Given the description of an element on the screen output the (x, y) to click on. 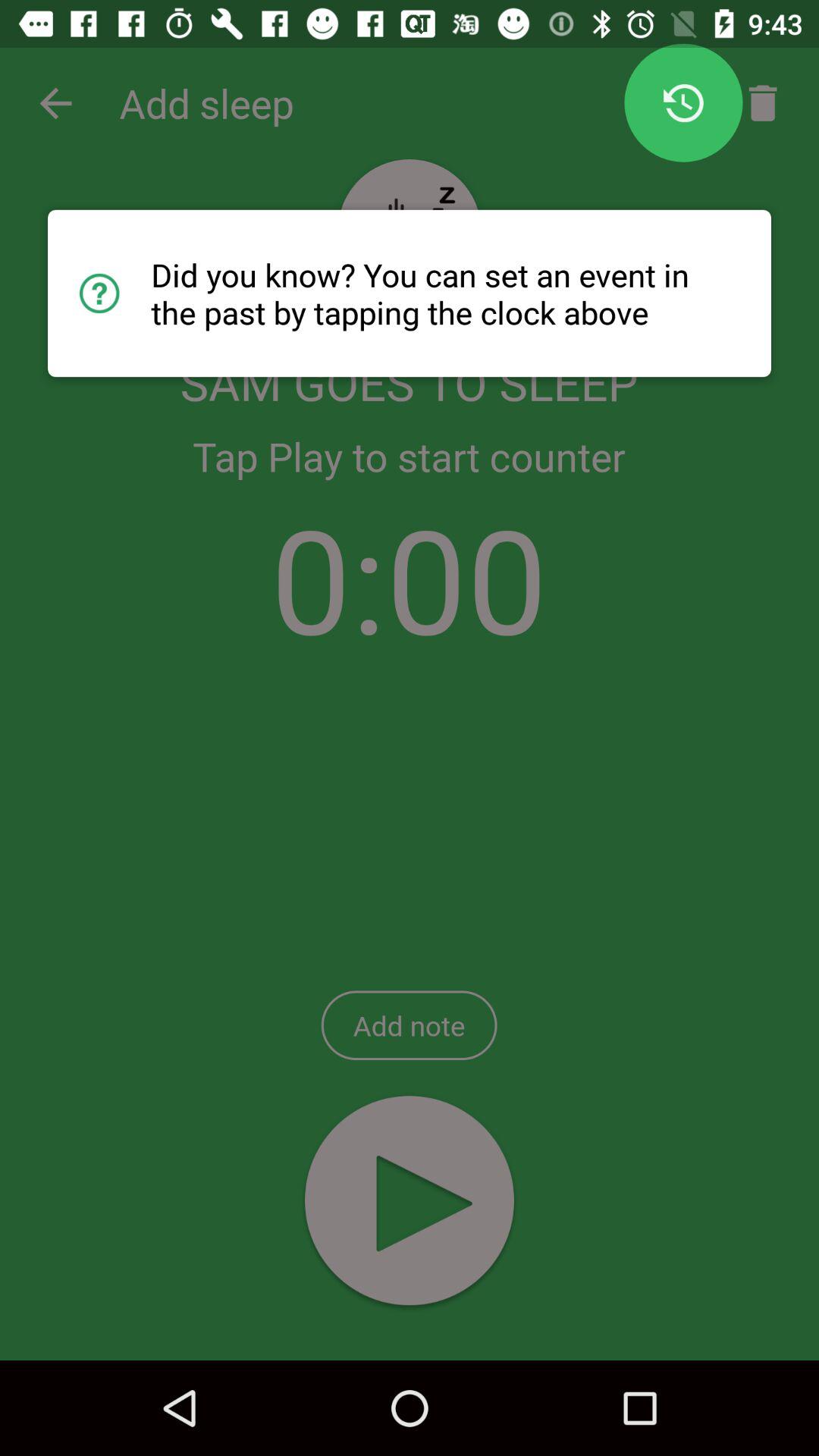
swipe until 0:00 icon (408, 577)
